Given the description of an element on the screen output the (x, y) to click on. 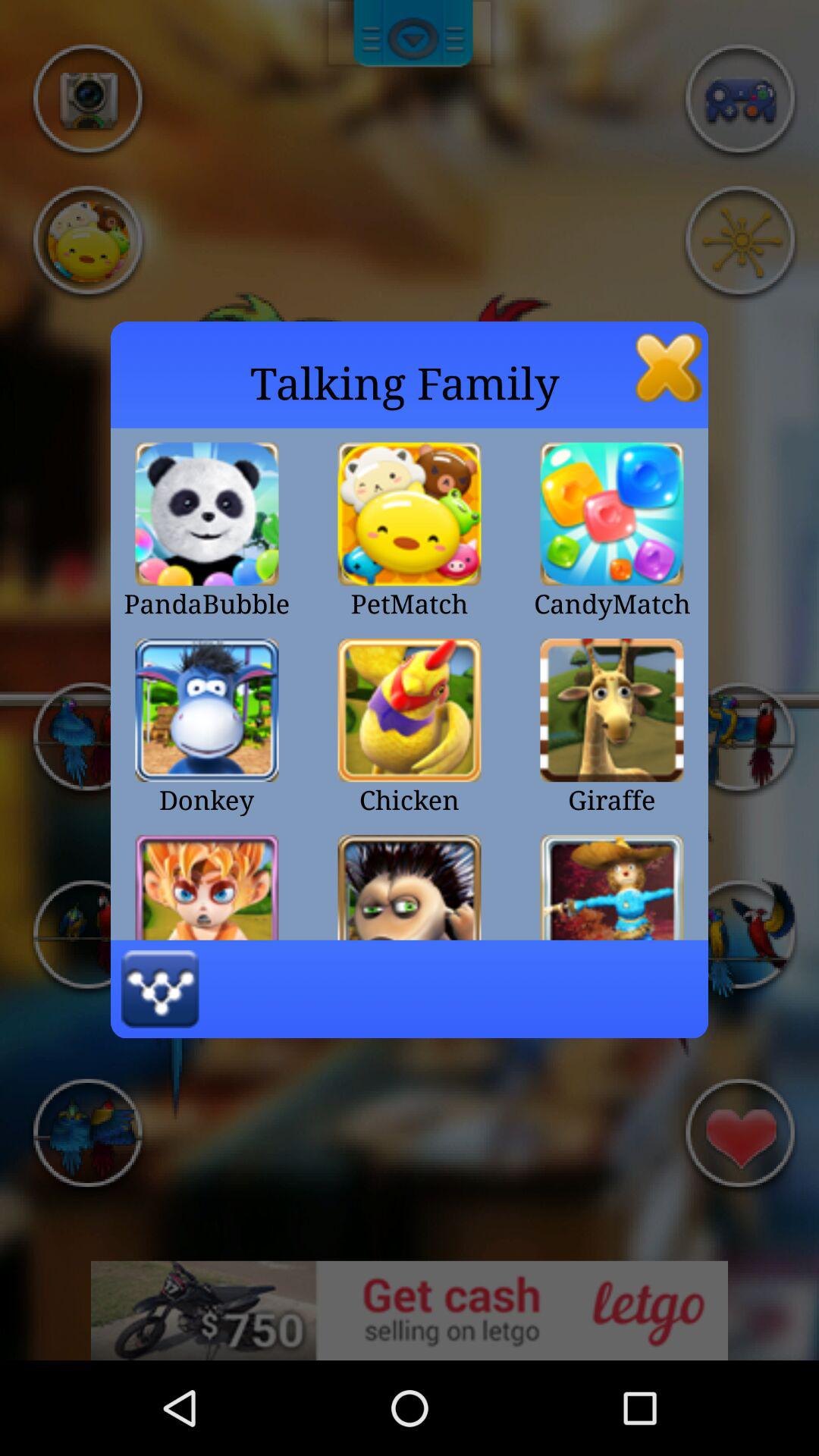
turn on item to the right of the talking family app (668, 367)
